Given the description of an element on the screen output the (x, y) to click on. 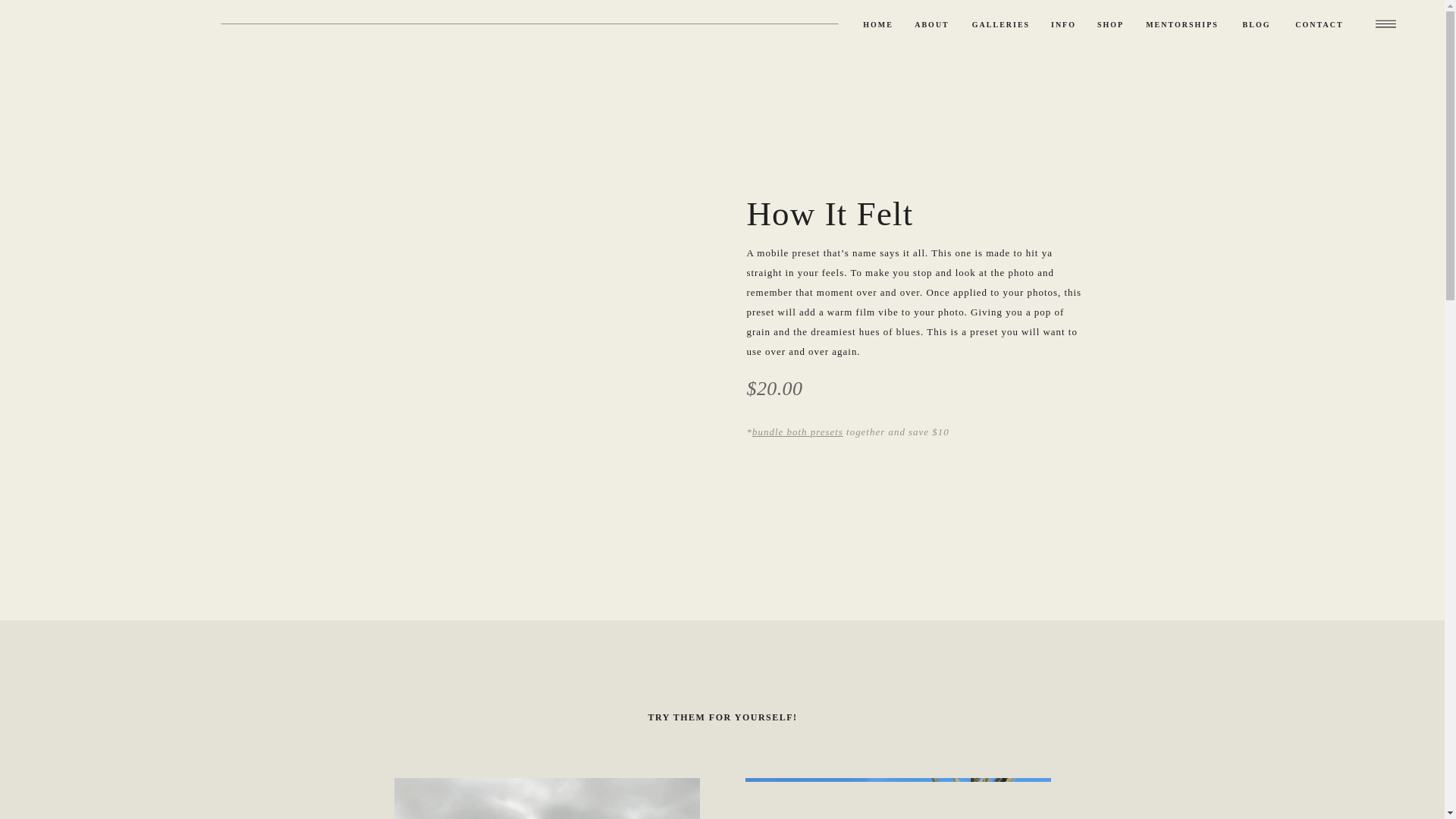
INFO (1063, 25)
HOME (877, 25)
ABOUT (931, 25)
CONTACT (1319, 25)
GALLERIES (1000, 25)
SHOP (1110, 25)
BLOG (1256, 25)
bundle both presets (797, 431)
MENTORSHIPS (1182, 25)
